Given the description of an element on the screen output the (x, y) to click on. 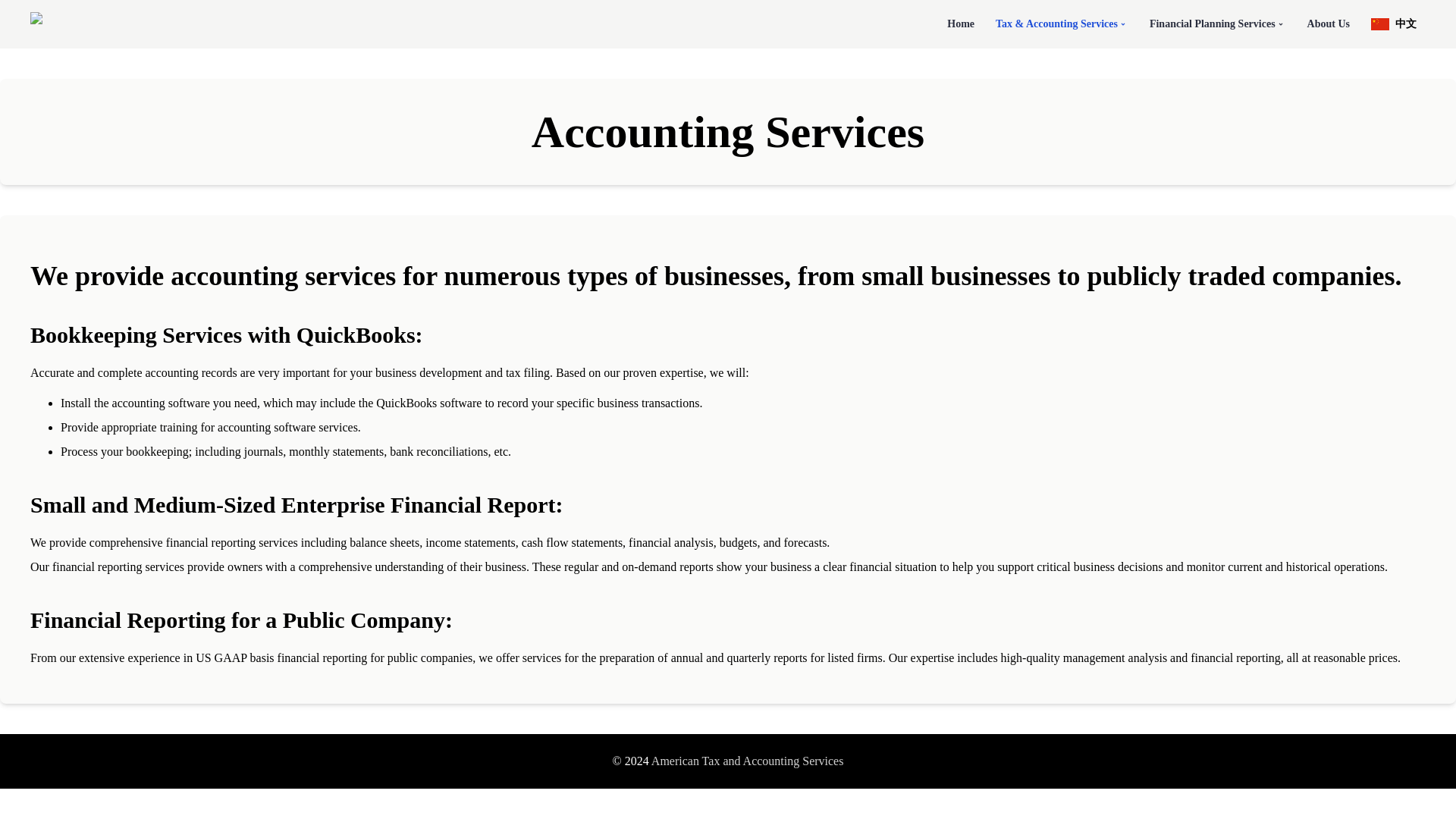
Home (960, 23)
About Us (1328, 23)
Financial Planning Services (1217, 23)
